Given the description of an element on the screen output the (x, y) to click on. 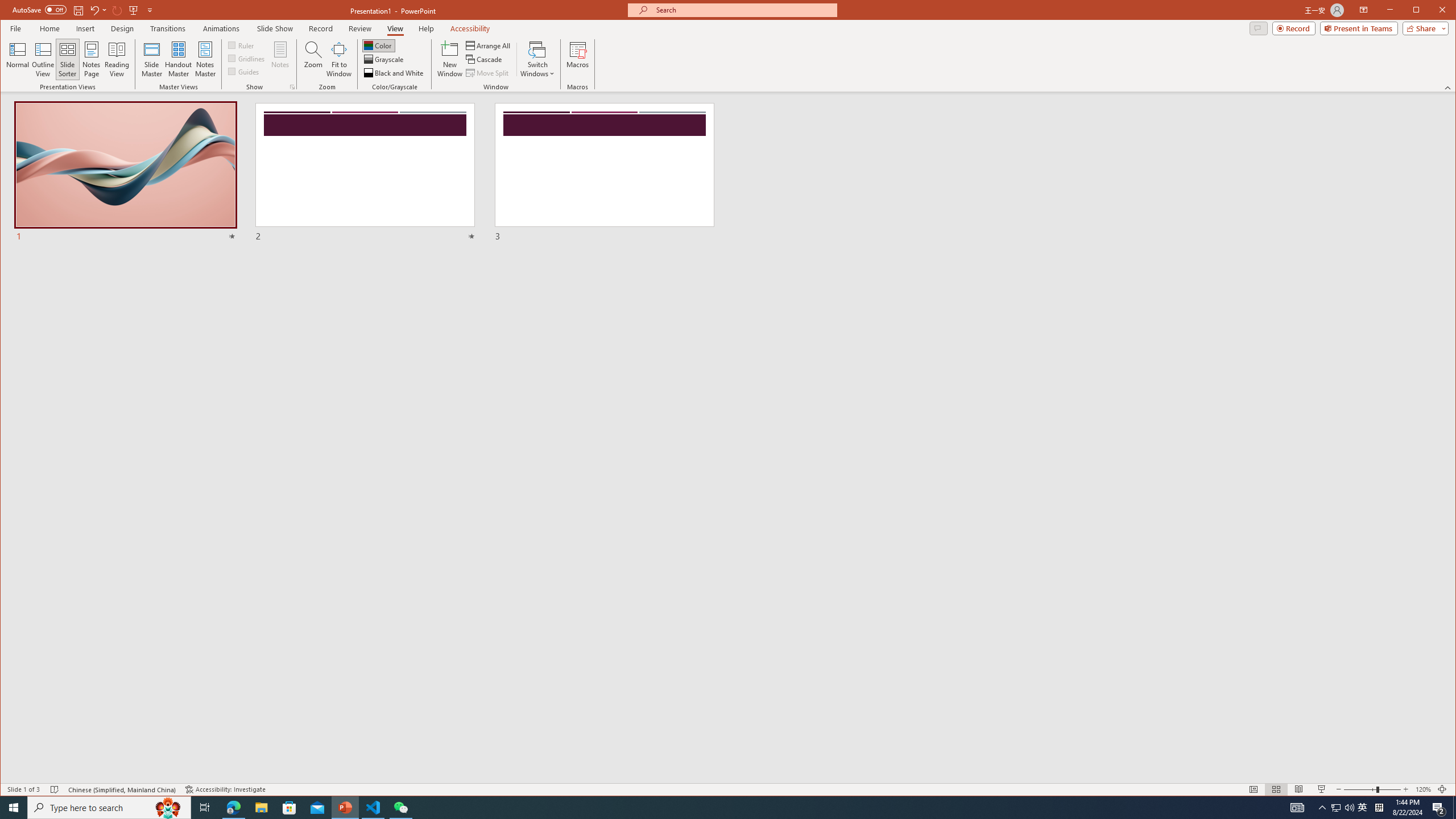
Switch Windows (537, 59)
Notes Page (91, 59)
Black and White (394, 72)
